Given the description of an element on the screen output the (x, y) to click on. 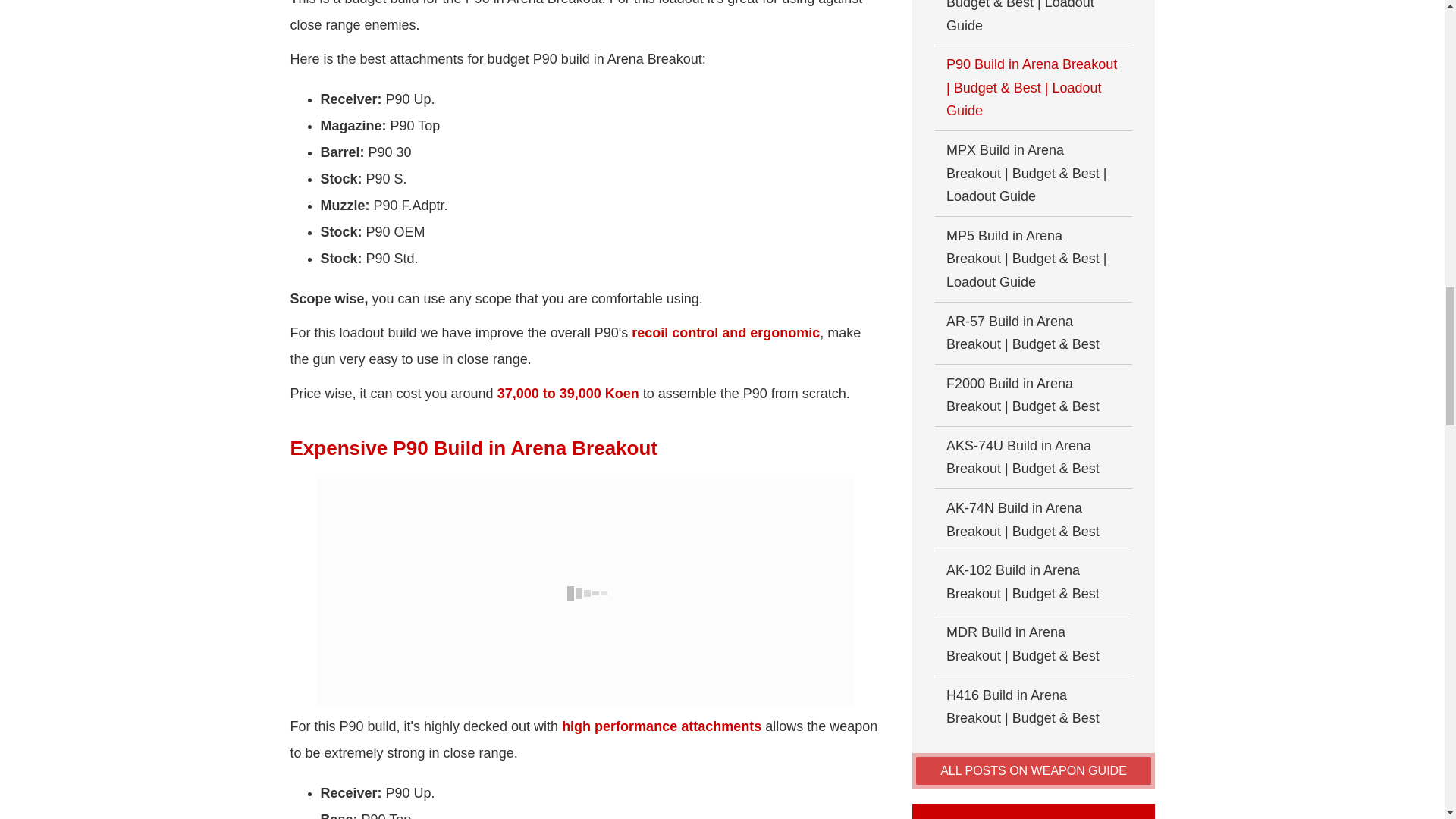
Expensive P90 Build in Arena Breakout (585, 591)
